Given the description of an element on the screen output the (x, y) to click on. 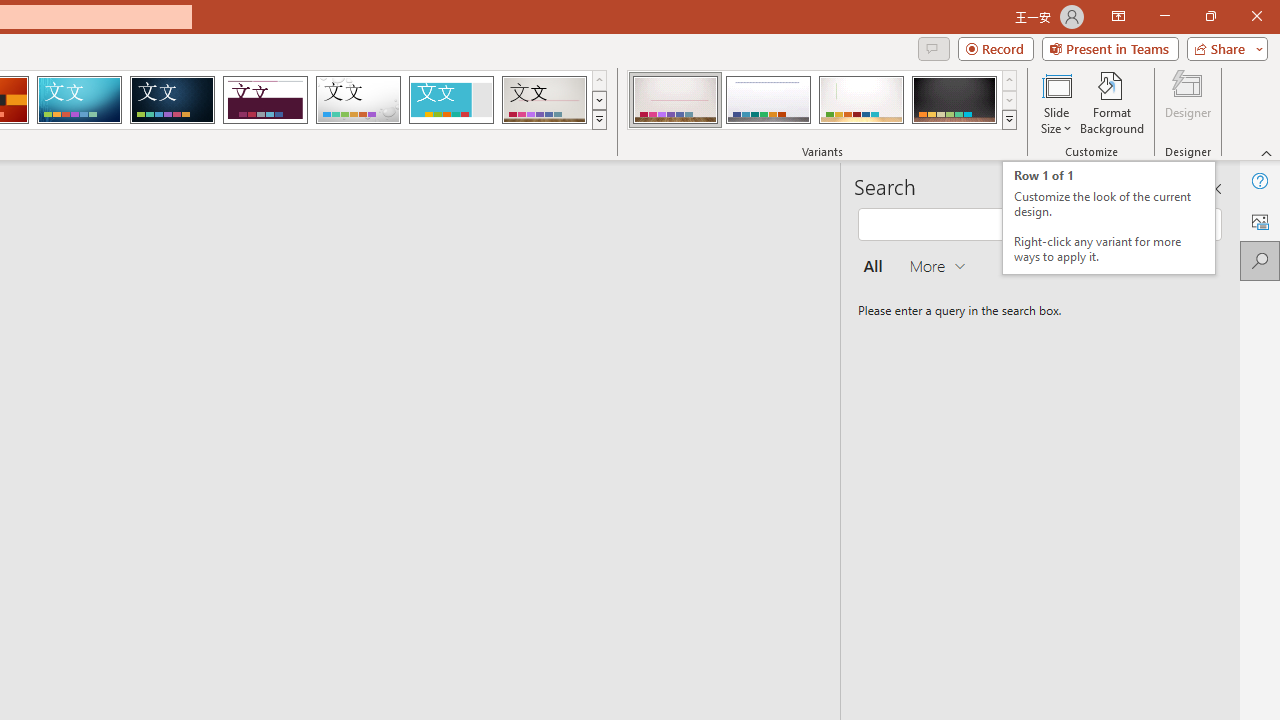
Damask (171, 100)
Gallery Variant 3 (861, 100)
Droplet (358, 100)
